Given the description of an element on the screen output the (x, y) to click on. 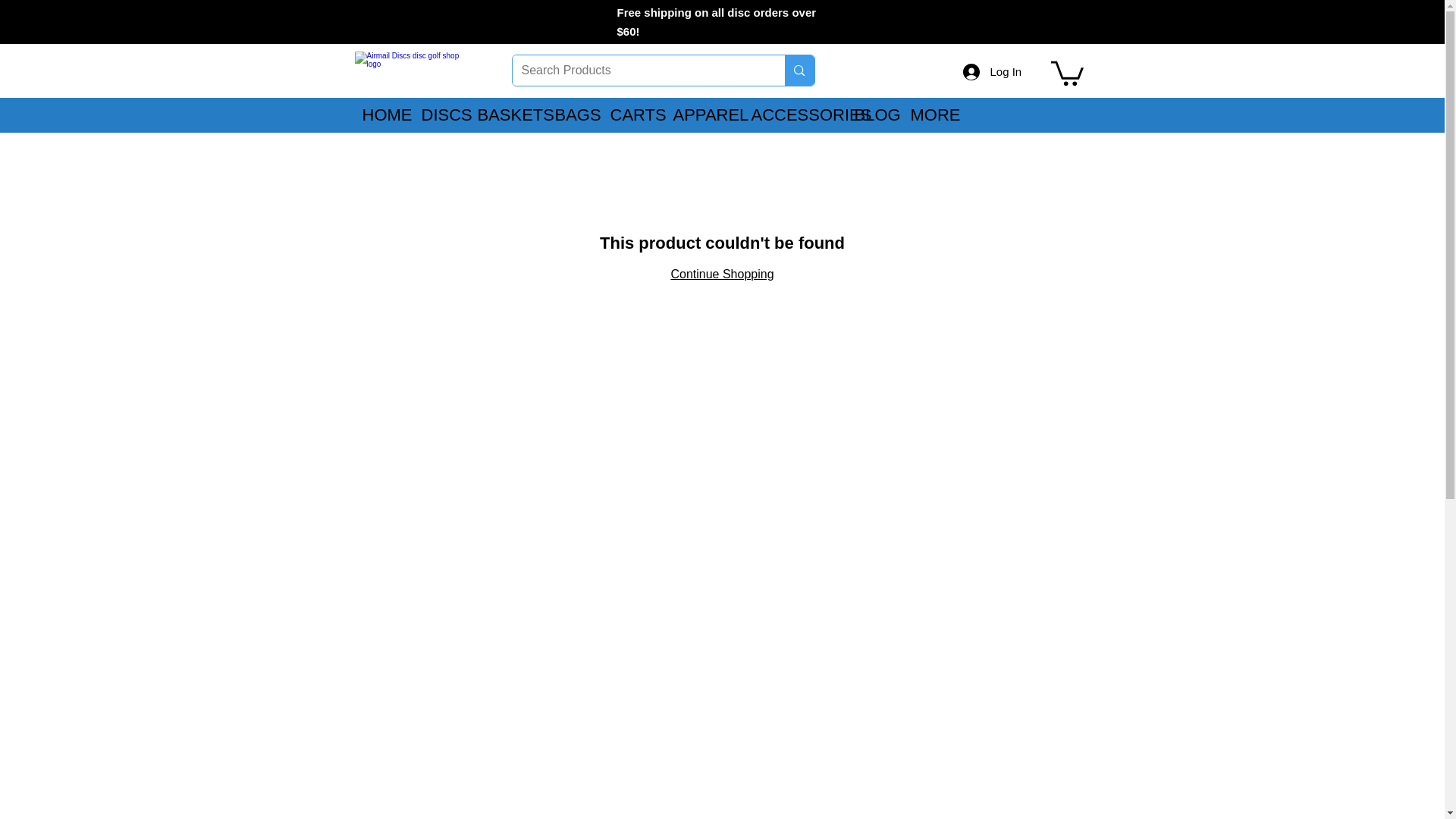
CARTS (630, 115)
APPAREL (700, 115)
HOME (379, 115)
BLOG (871, 115)
BASKETS (504, 115)
BAGS (570, 115)
Log In (979, 71)
ACCESSORIES (791, 115)
Continue Shopping (721, 273)
